Given the description of an element on the screen output the (x, y) to click on. 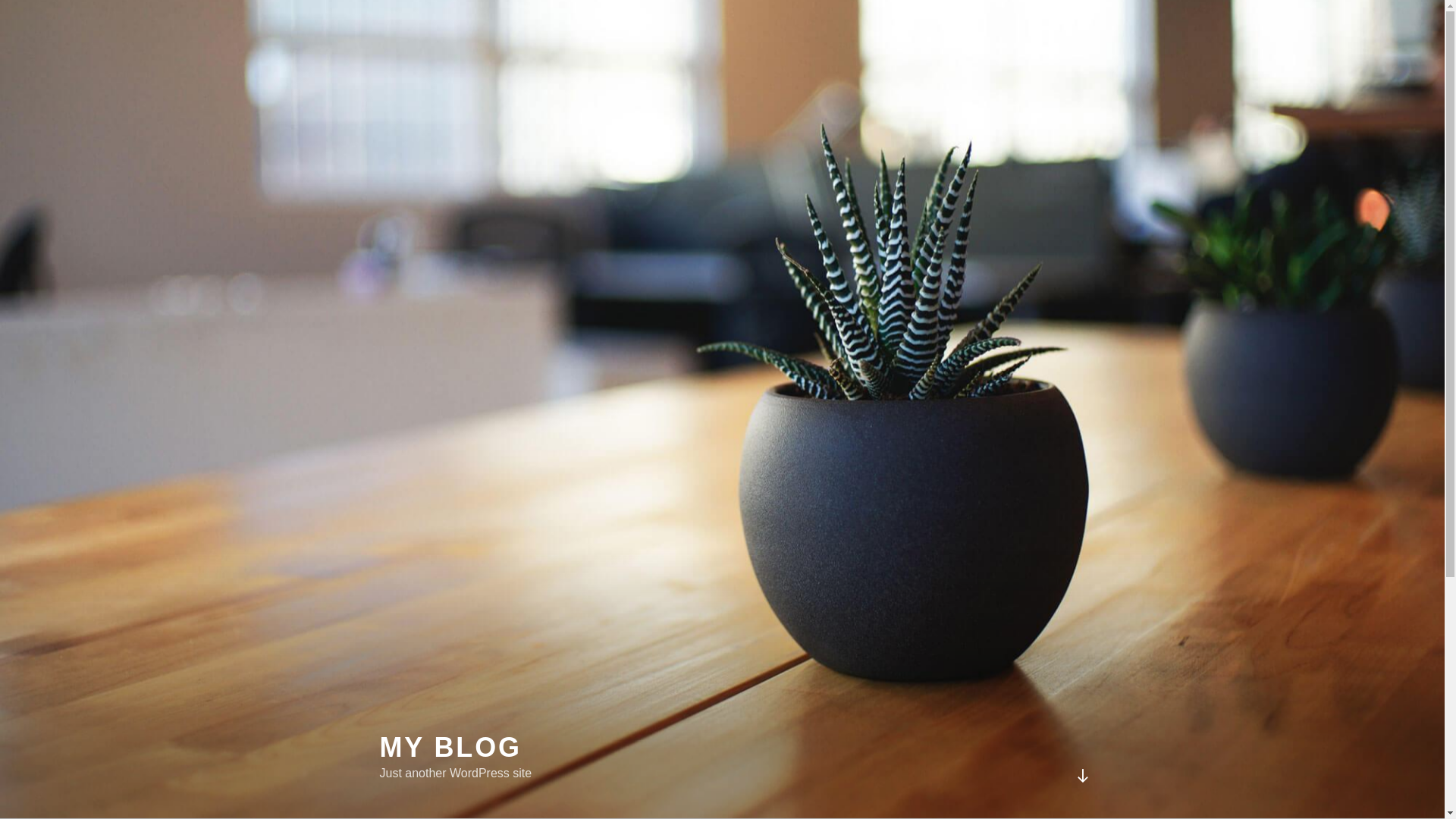
Scroll down to content Element type: text (1082, 775)
MY BLOG Element type: text (450, 746)
